Given the description of an element on the screen output the (x, y) to click on. 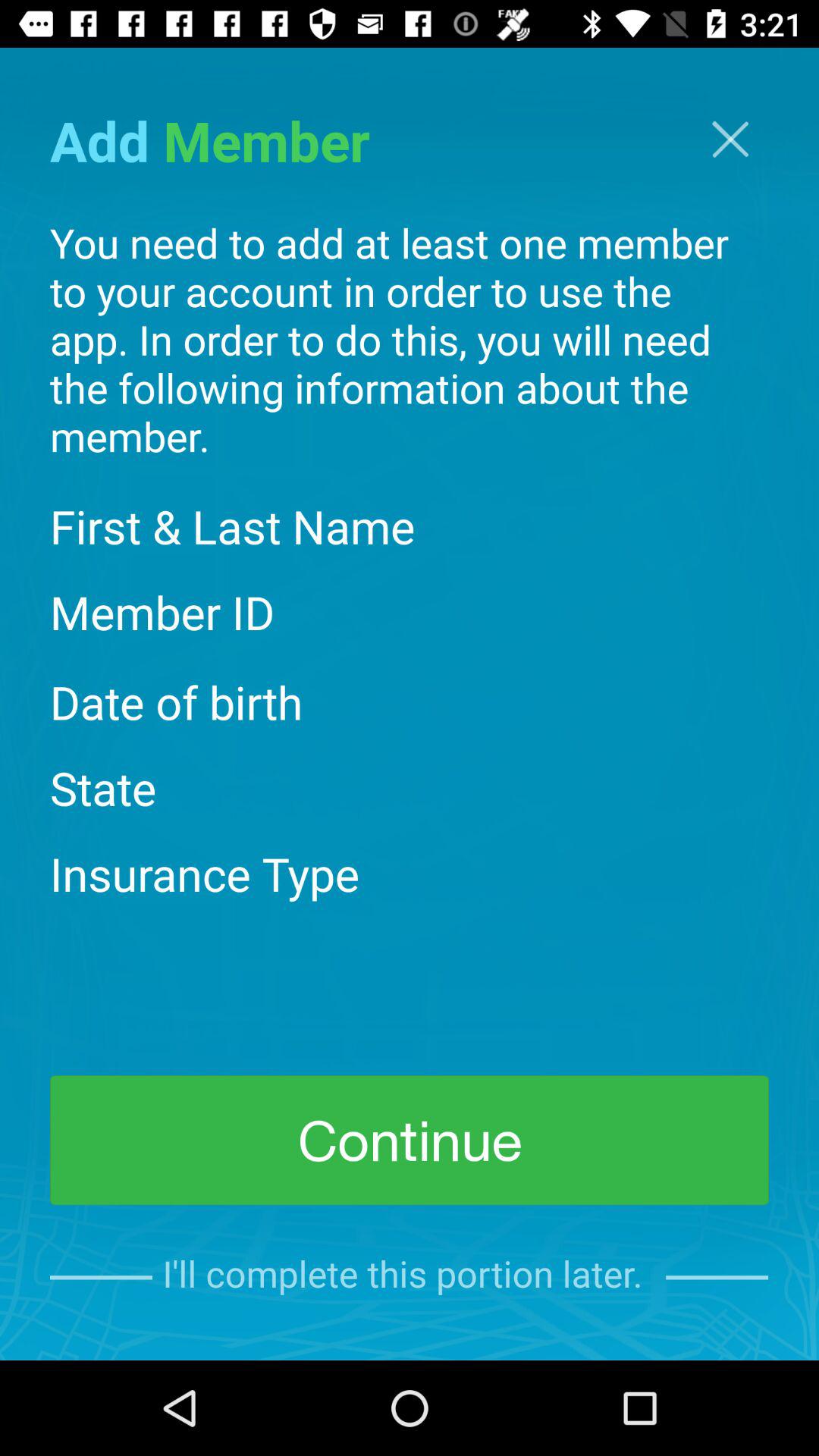
add member (730, 139)
